Given the description of an element on the screen output the (x, y) to click on. 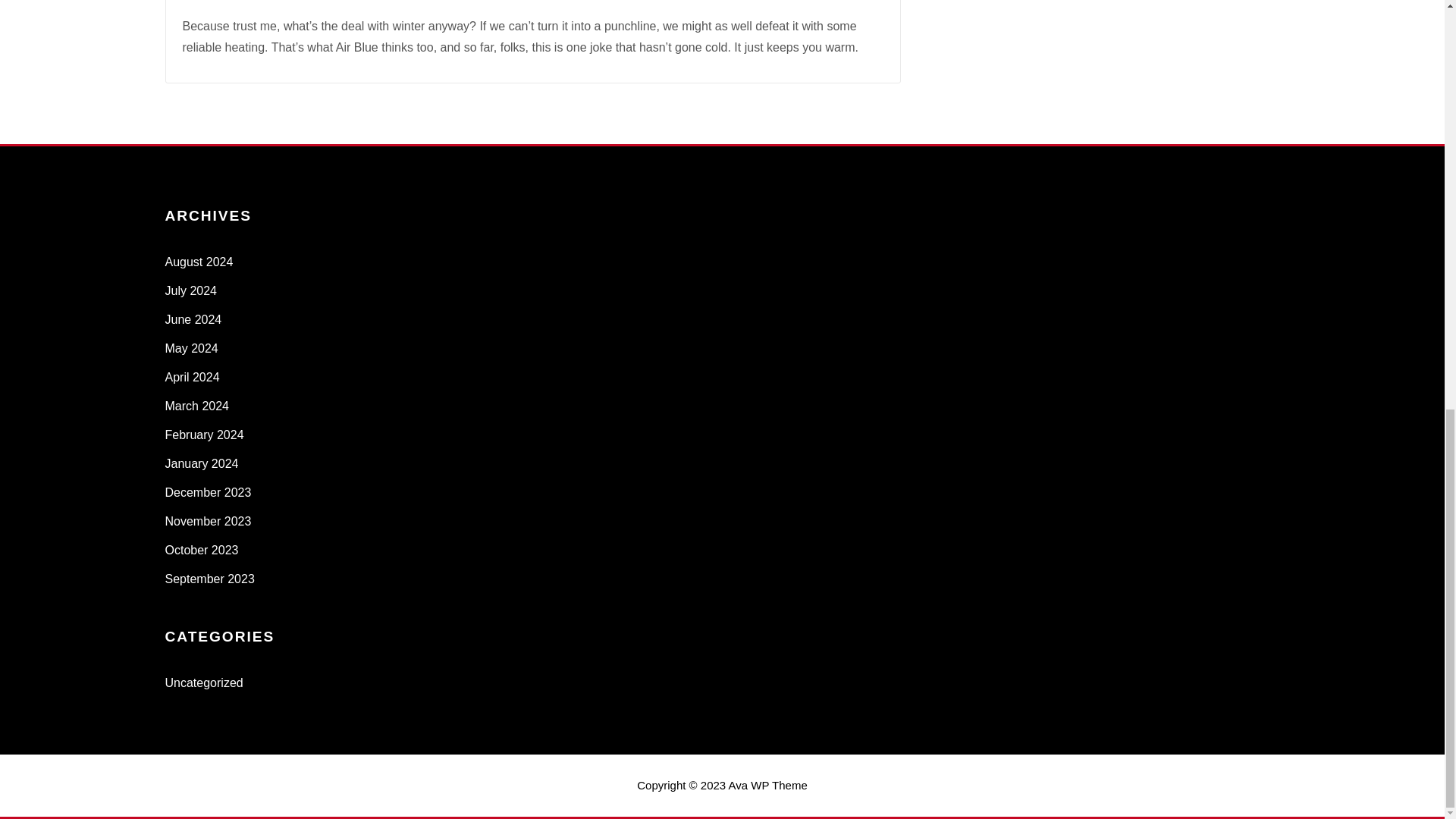
October 2023 (201, 549)
August 2024 (198, 261)
June 2024 (193, 318)
January 2024 (201, 463)
May 2024 (191, 348)
February 2024 (204, 434)
December 2023 (208, 492)
November 2023 (208, 521)
April 2024 (192, 377)
September 2023 (209, 578)
